Given the description of an element on the screen output the (x, y) to click on. 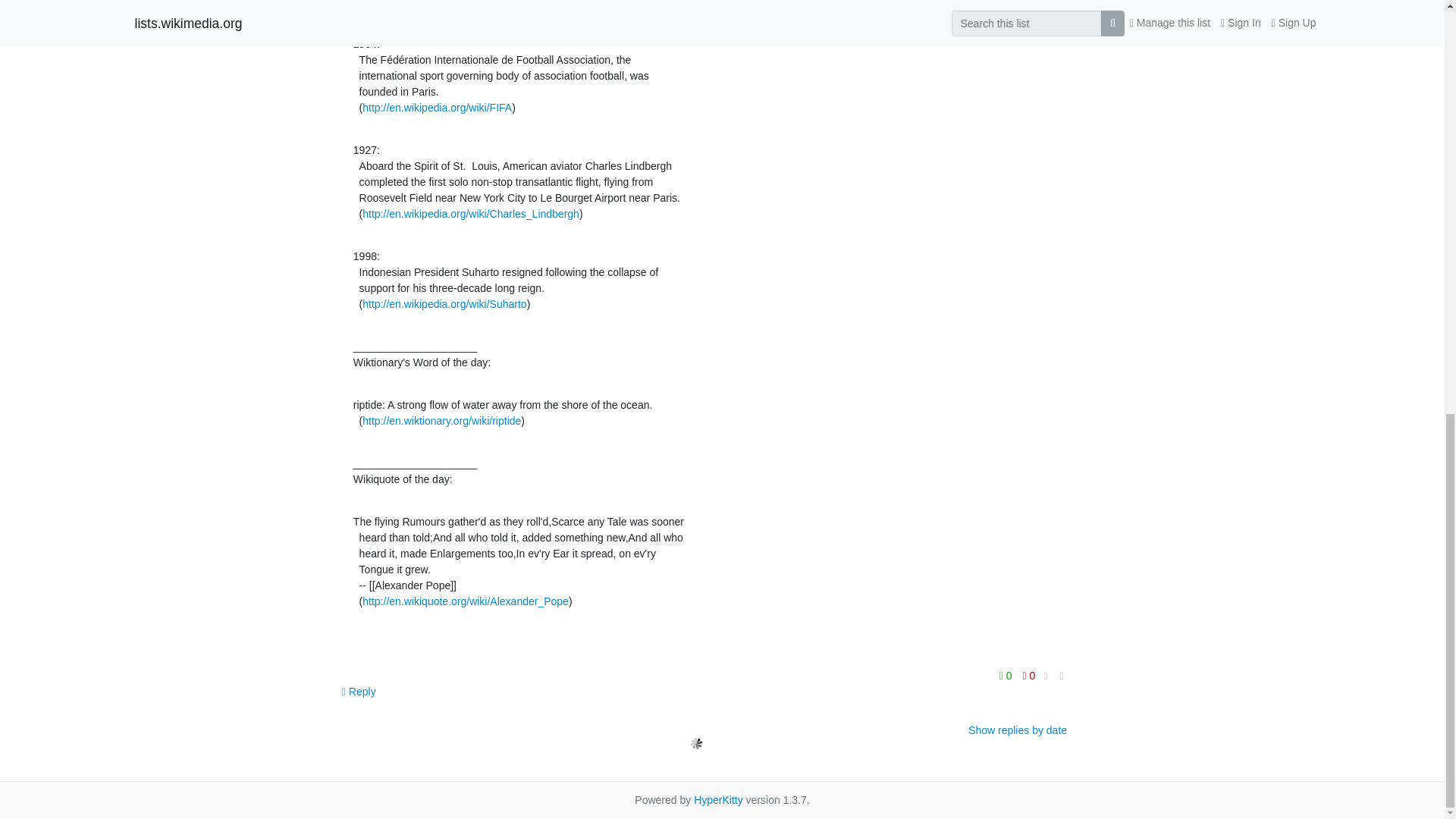
You must be logged-in to vote. (1007, 675)
Display in fixed font (1046, 676)
Permalink for this message (1061, 676)
You must be logged-in to vote. (1029, 675)
Sign in to reply online (359, 691)
